Given the description of an element on the screen output the (x, y) to click on. 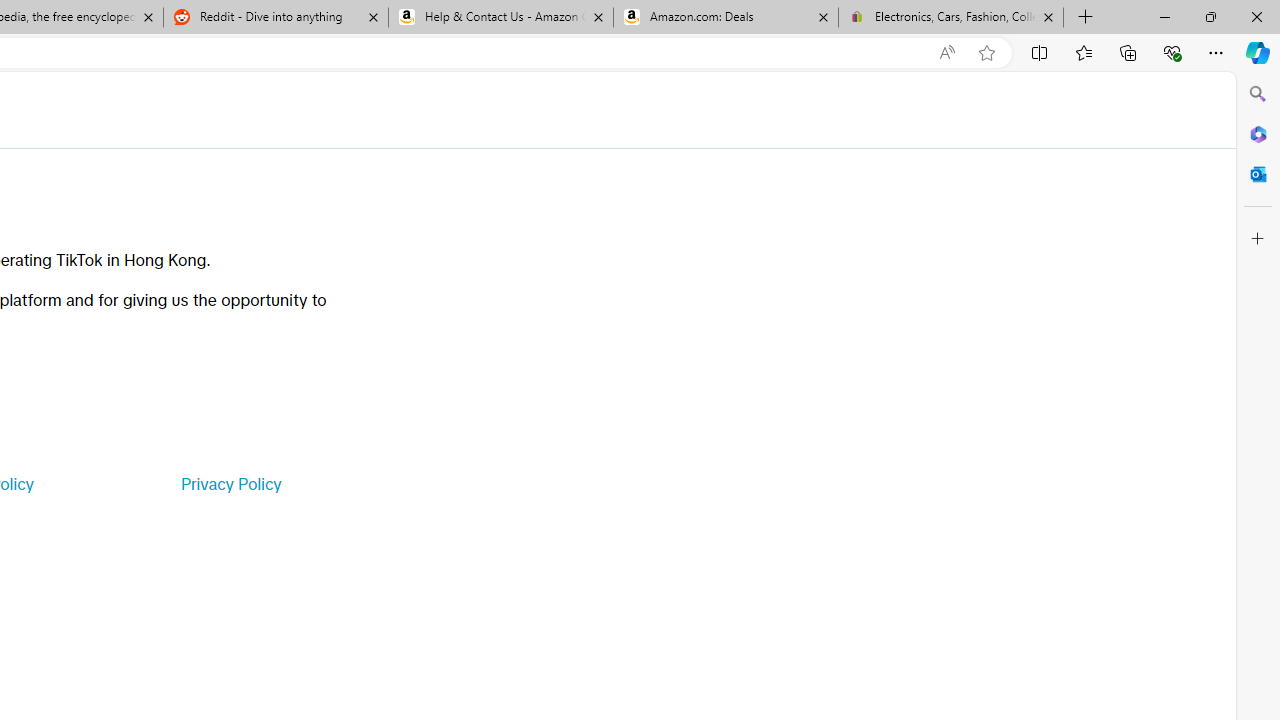
Amazon.com: Deals (726, 17)
Help & Contact Us - Amazon Customer Service (501, 17)
